Given the description of an element on the screen output the (x, y) to click on. 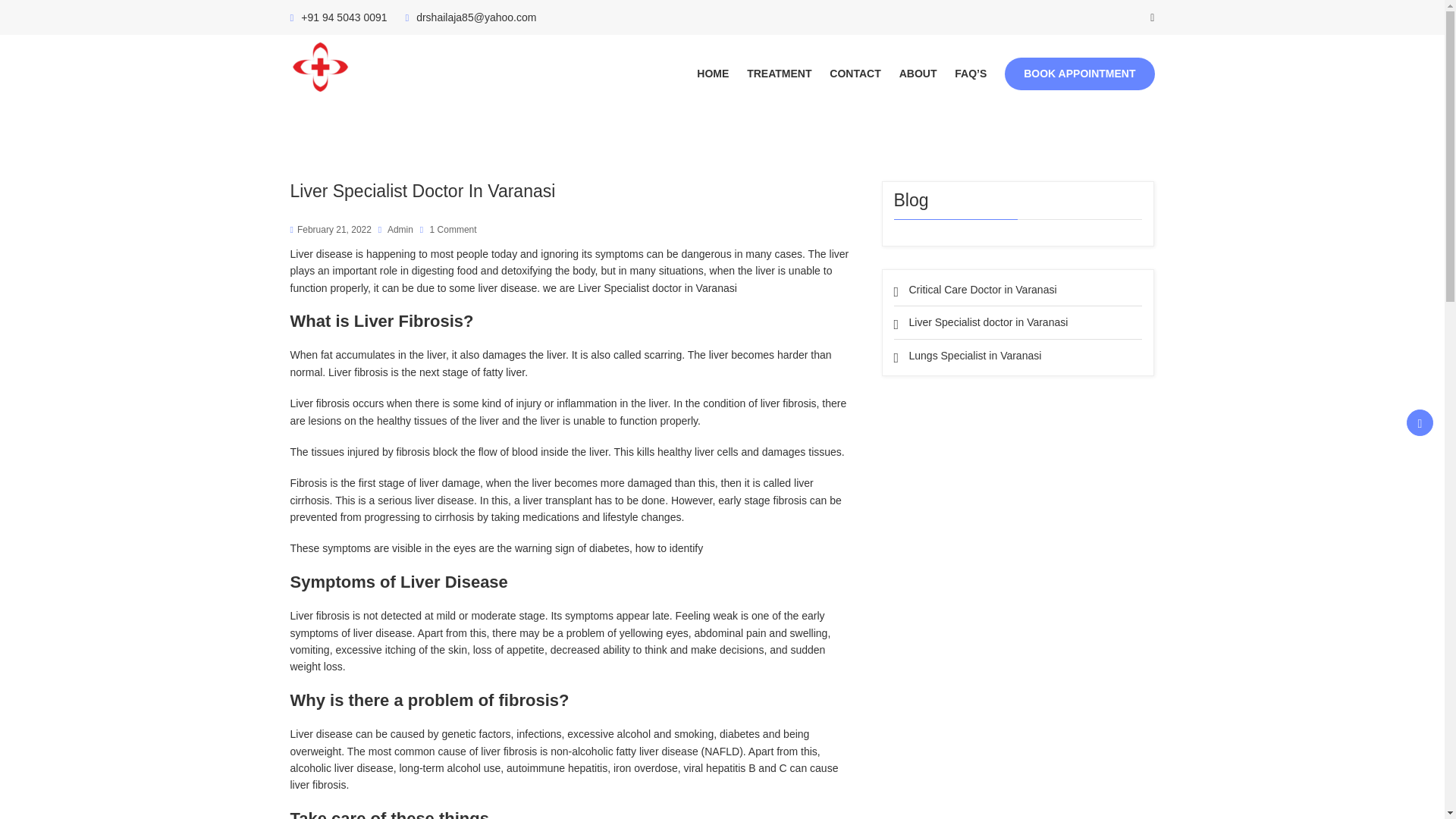
ABOUT (918, 73)
Facebook (1419, 422)
BOOK APPOINTMENT (1079, 73)
Admin (395, 229)
TREATMENT (778, 73)
HOME (713, 73)
Critical Care Doctor in Varanasi (982, 289)
Lungs Specialist in Varanasi (974, 355)
CONTACT (854, 73)
Liver Specialist doctor in Varanasi (987, 322)
Dr. S.S. Behera (389, 67)
1 Comment (448, 229)
